Given the description of an element on the screen output the (x, y) to click on. 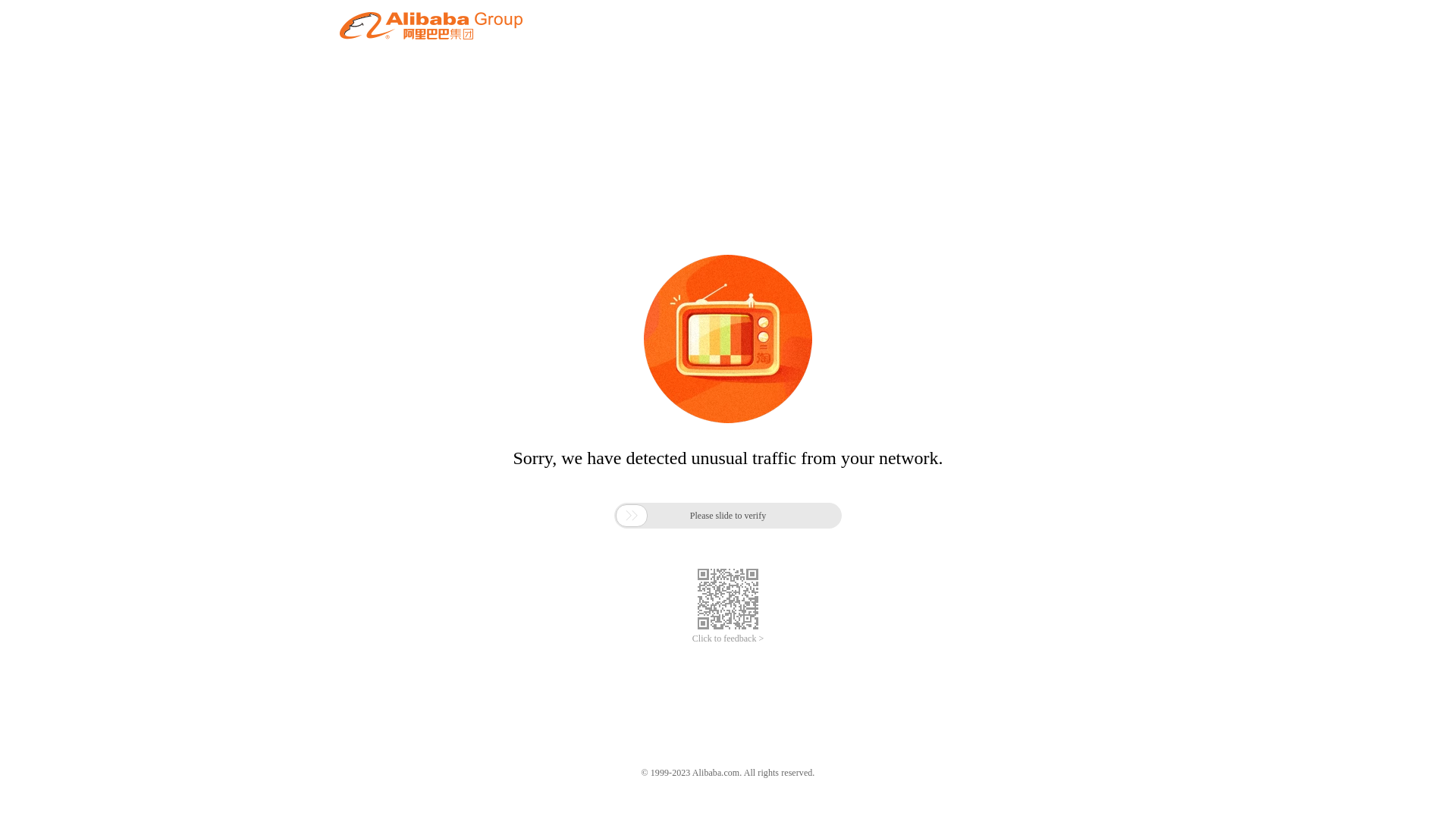
Click to feedback > Element type: text (727, 638)
